Given the description of an element on the screen output the (x, y) to click on. 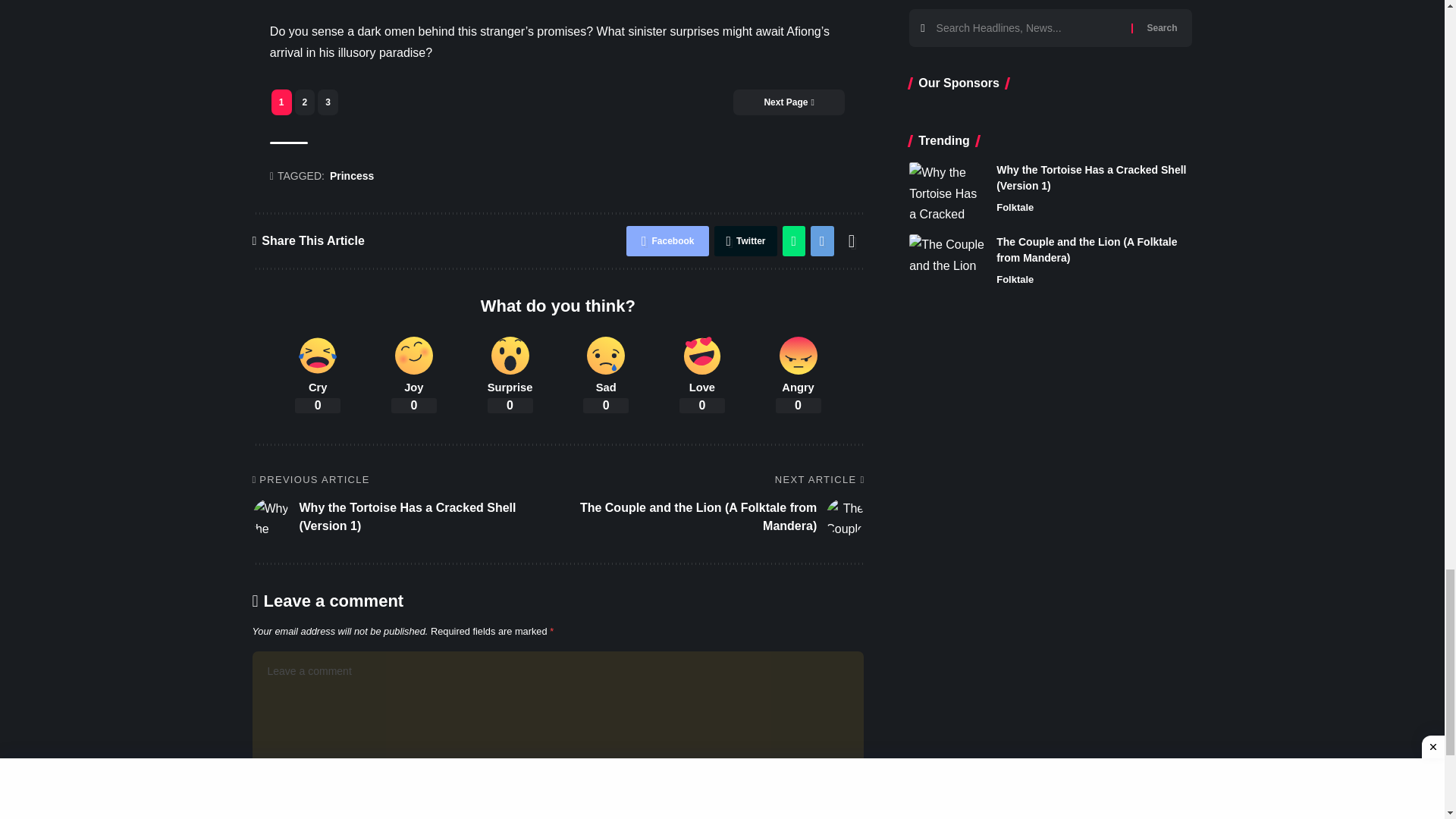
Facebook (668, 241)
Twitter (745, 241)
Next Page (788, 102)
Princess (352, 176)
